Given the description of an element on the screen output the (x, y) to click on. 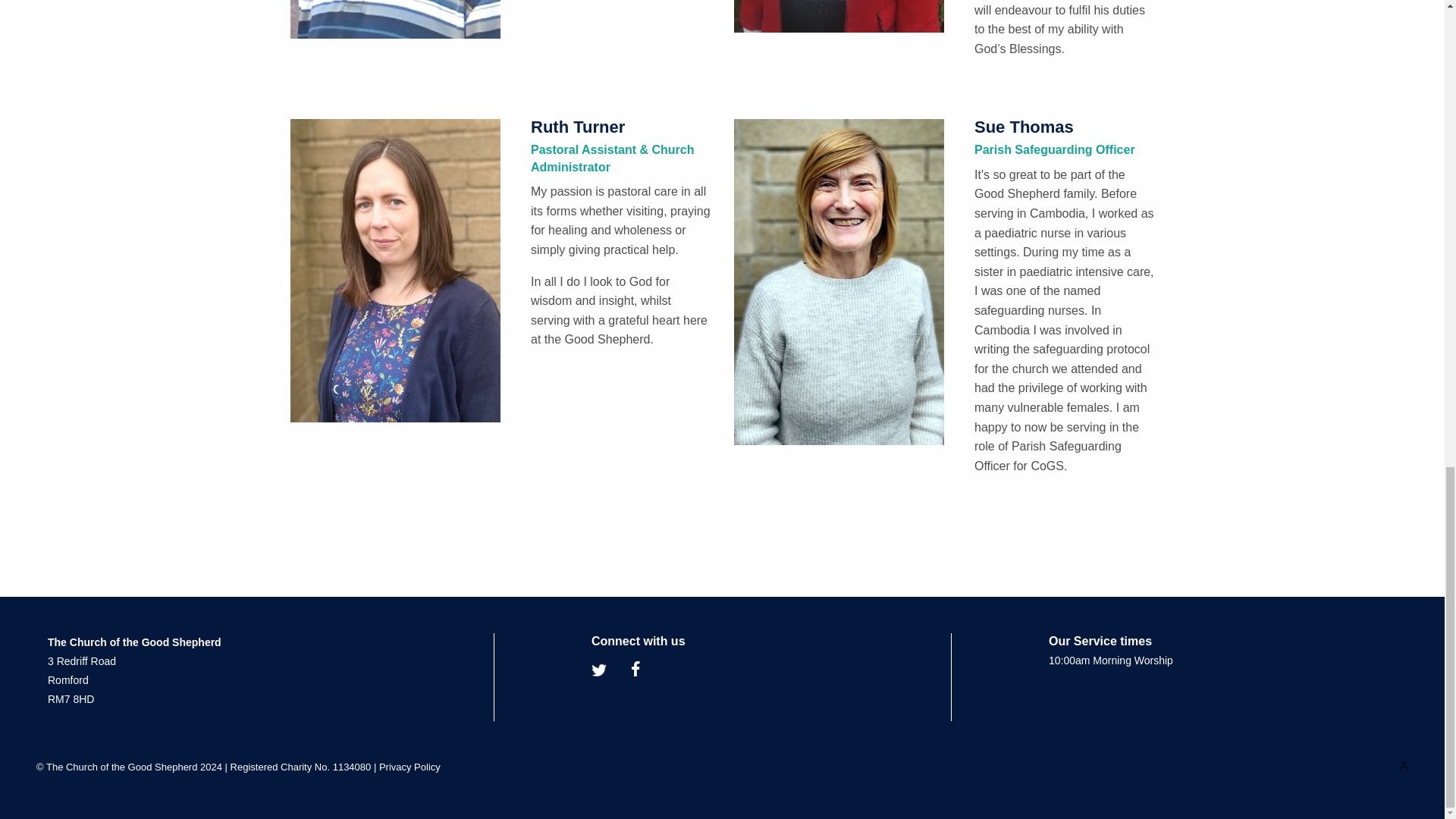
Read (409, 767)
